Given the description of an element on the screen output the (x, y) to click on. 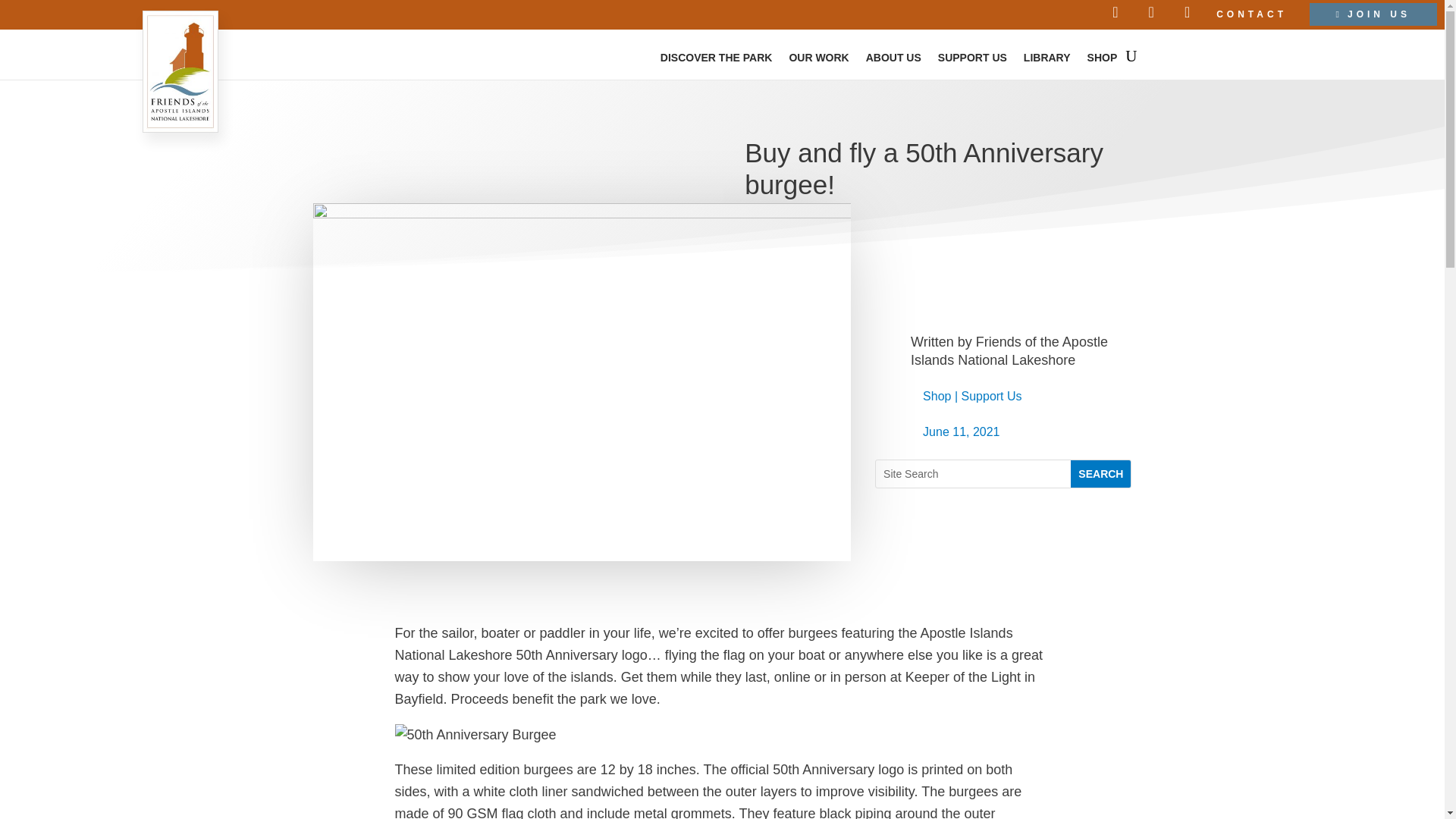
Search (1100, 473)
JOIN US (1372, 14)
DISCOVER THE PARK (717, 58)
LIBRARY (1046, 58)
ABOUT US (893, 58)
Support Us (991, 395)
Search (1100, 473)
CONTACT (1251, 14)
Shop (936, 395)
SHOP (1102, 58)
